Given the description of an element on the screen output the (x, y) to click on. 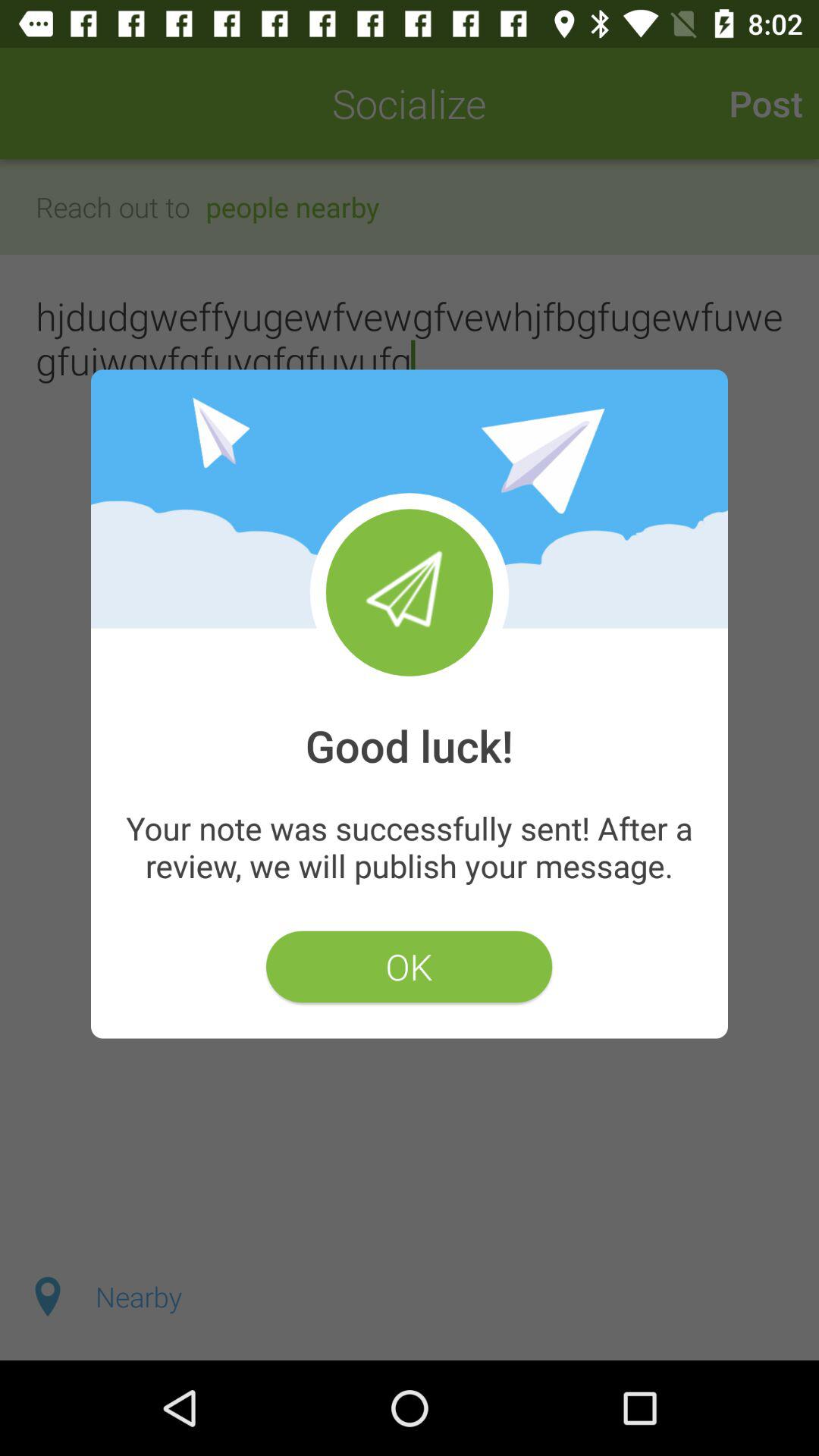
press the ok item (409, 966)
